Given the description of an element on the screen output the (x, y) to click on. 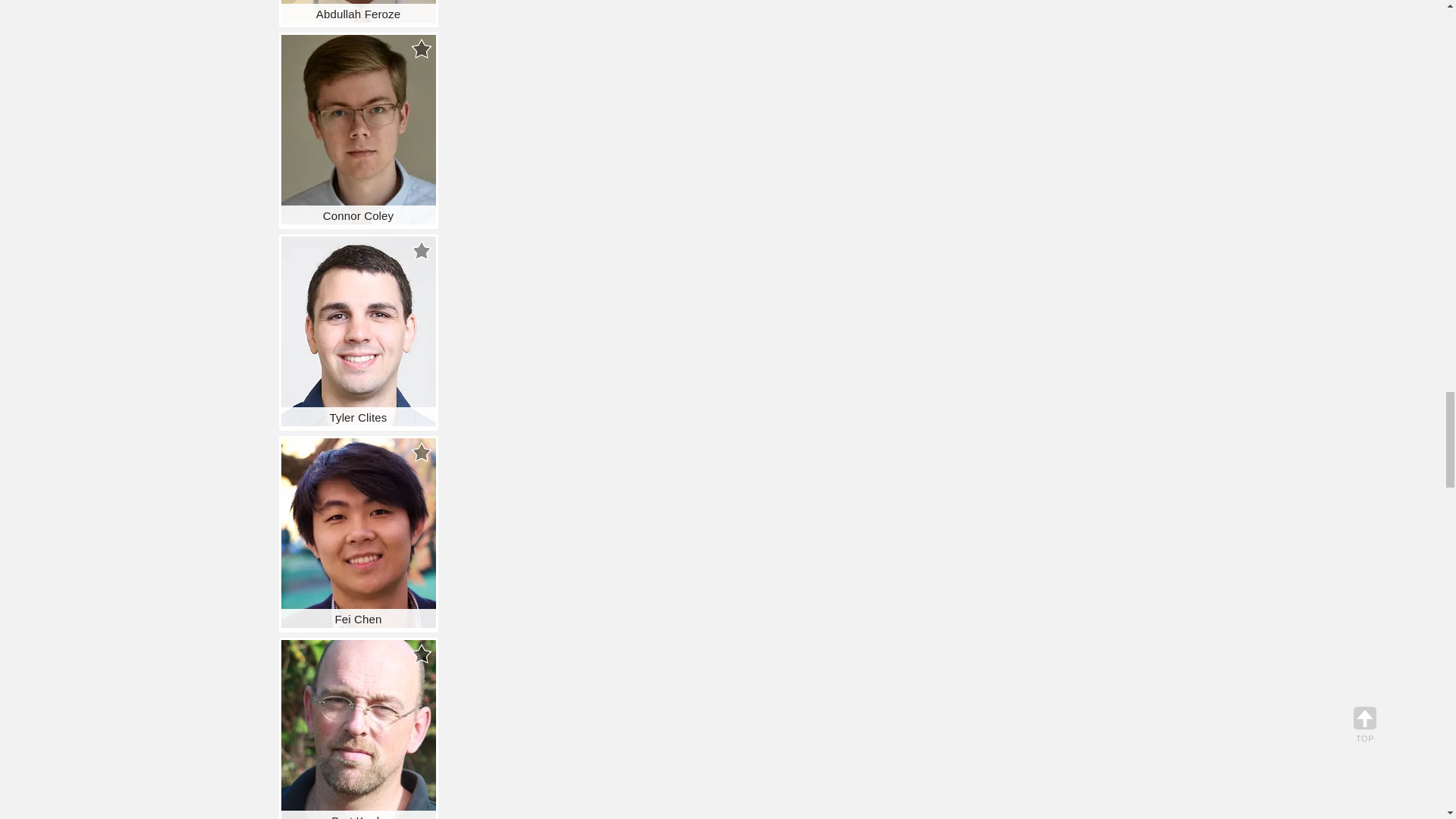
Abdullah Feroze (358, 11)
